Given the description of an element on the screen output the (x, y) to click on. 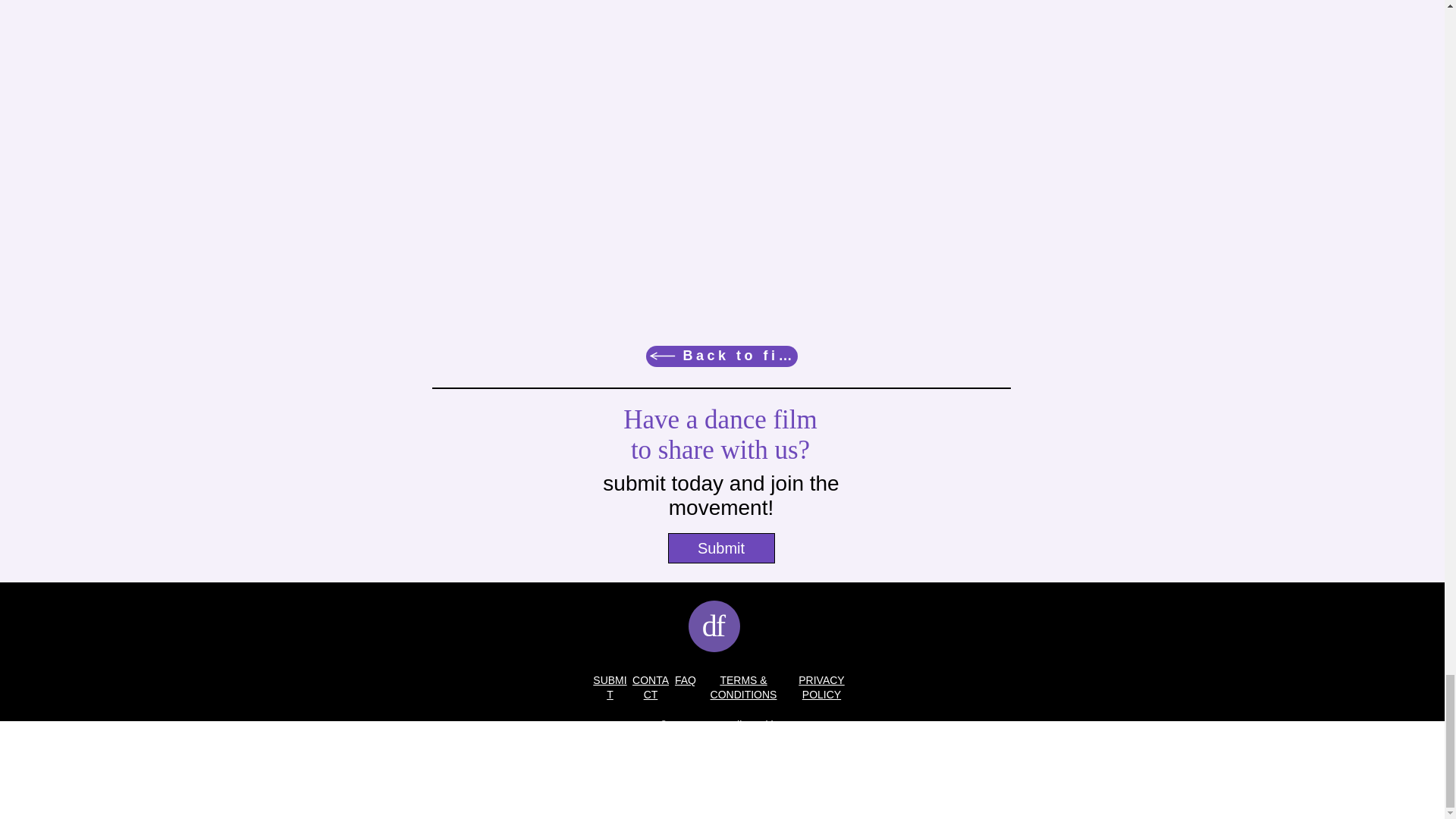
Submit (720, 548)
CONTACT (649, 687)
FAQ (685, 680)
Back to films (721, 355)
PRIVACY POLICY (820, 687)
SUBMIT (609, 687)
